Given the description of an element on the screen output the (x, y) to click on. 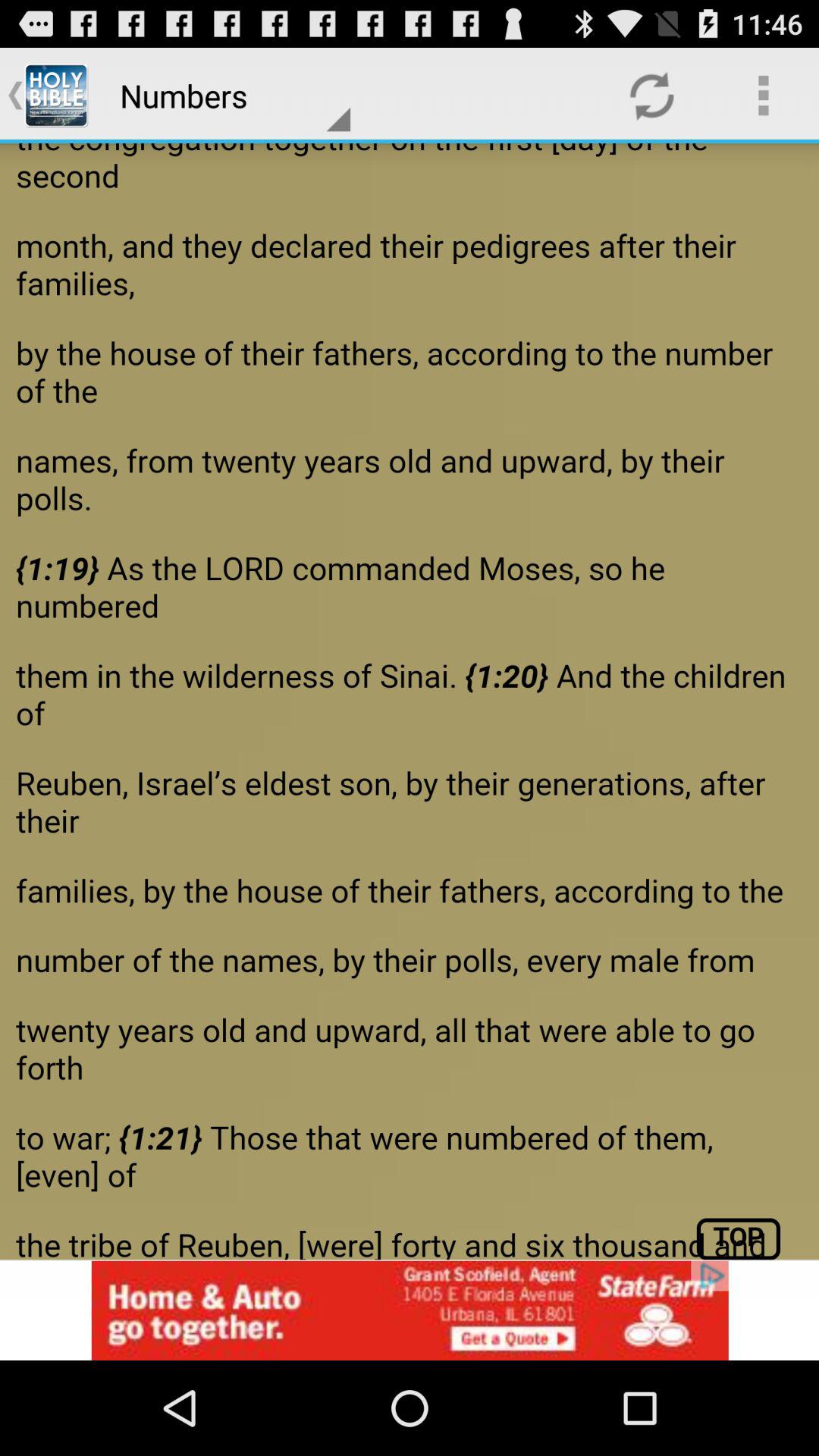
open advertisement (409, 1310)
